Given the description of an element on the screen output the (x, y) to click on. 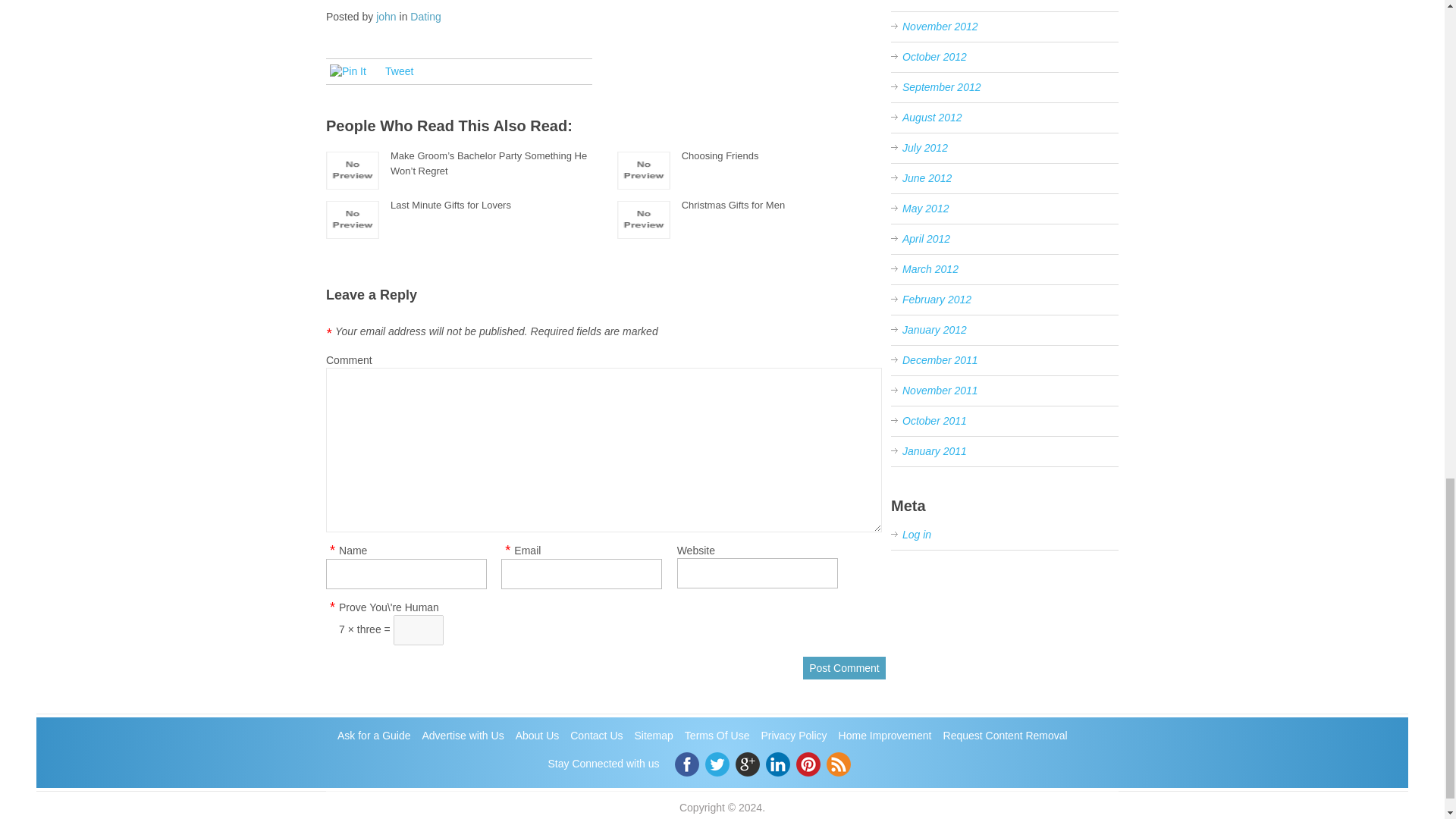
Last Minute Gifts for Lovers (450, 204)
Post Comment (844, 667)
Choosing Friends (719, 155)
john (385, 16)
Post Comment (844, 667)
Tweet (399, 70)
Posts by john (385, 16)
Dating (425, 16)
Christmas Gifts for Men (733, 204)
